Given the description of an element on the screen output the (x, y) to click on. 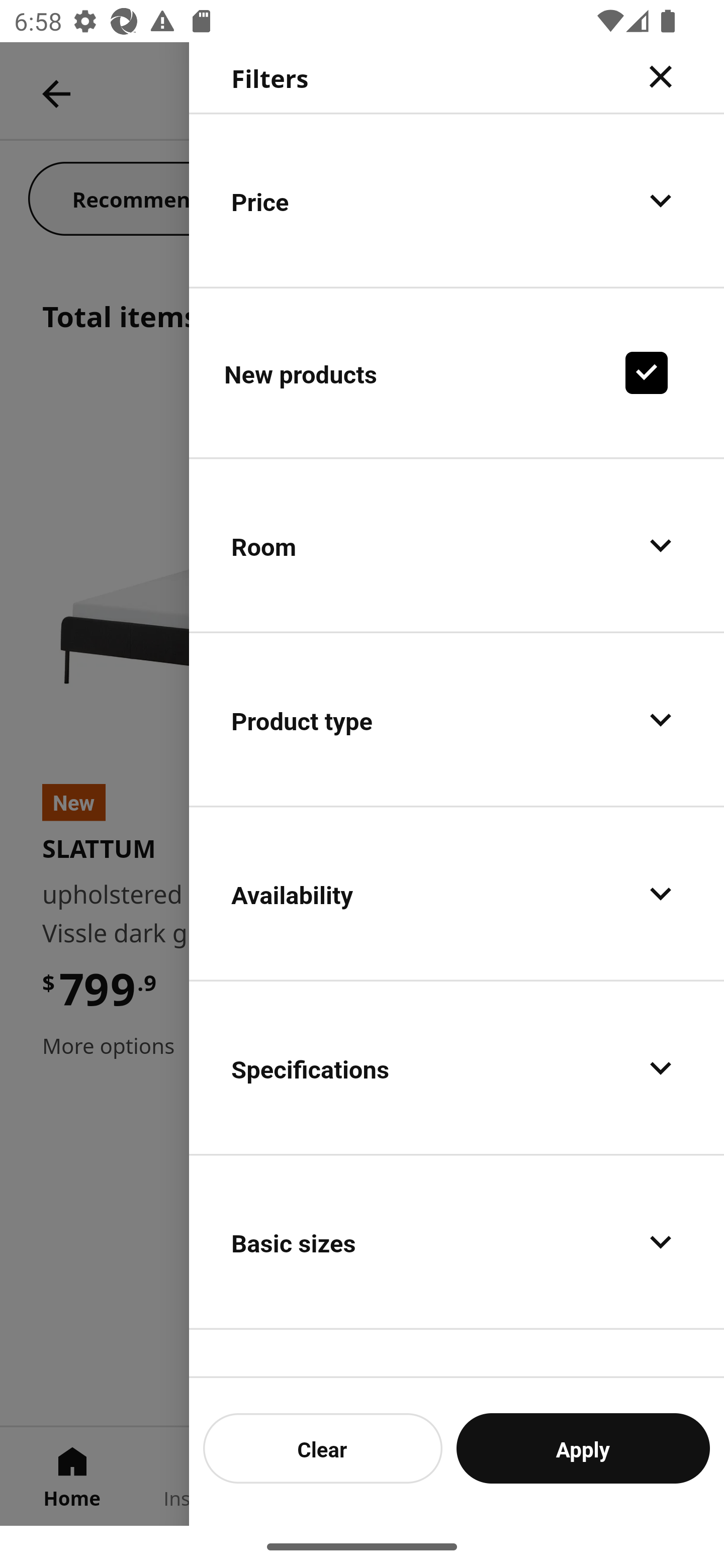
Price (456, 200)
New products (456, 371)
Room (456, 545)
Product type (456, 719)
Availability (456, 893)
Specifications (456, 1067)
Basic sizes (456, 1241)
Clear (322, 1447)
Apply (583, 1447)
